Given the description of an element on the screen output the (x, y) to click on. 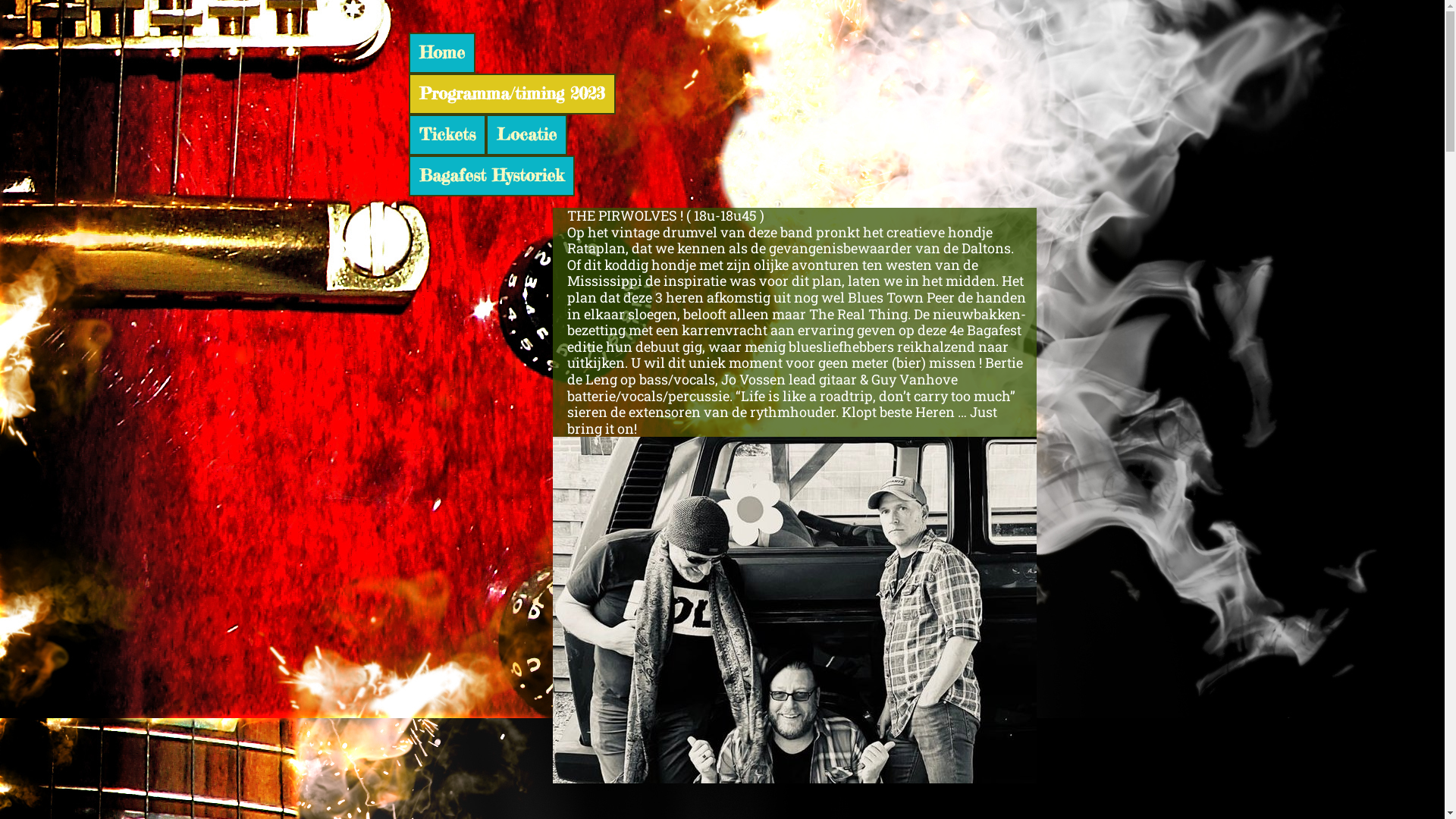
Programma/timing 2023 Element type: text (511, 93)
Locatie Element type: text (525, 134)
Home Element type: text (440, 52)
Tickets Element type: text (446, 134)
Bagafest Hystoriek Element type: text (490, 175)
